Given the description of an element on the screen output the (x, y) to click on. 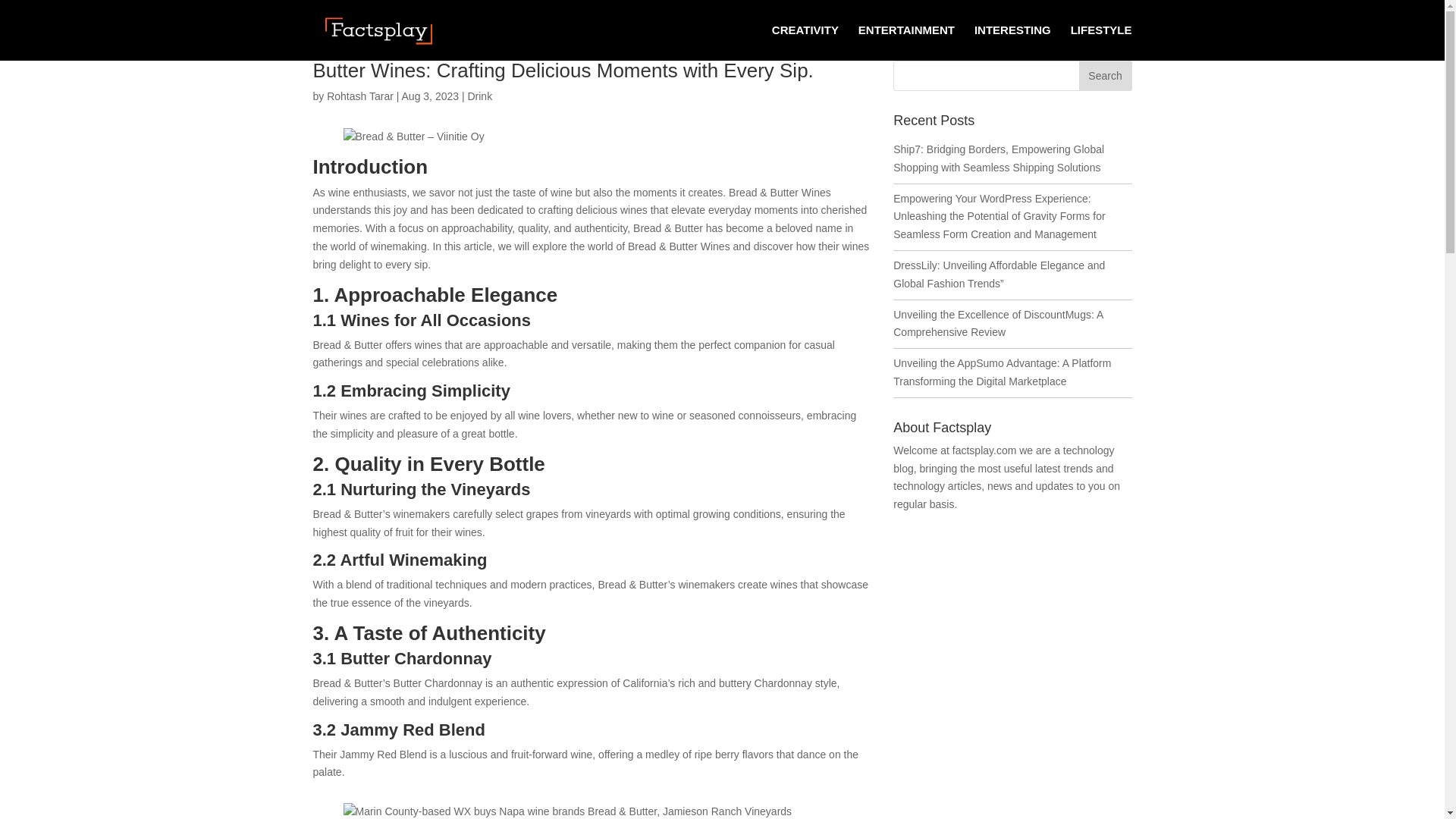
INTERESTING (1012, 42)
Search (1104, 75)
Posts by Rohtash Tarar (359, 96)
Drink (479, 96)
CREATIVITY (804, 42)
ENTERTAINMENT (907, 42)
LIFESTYLE (1101, 42)
Search (1104, 75)
